Given the description of an element on the screen output the (x, y) to click on. 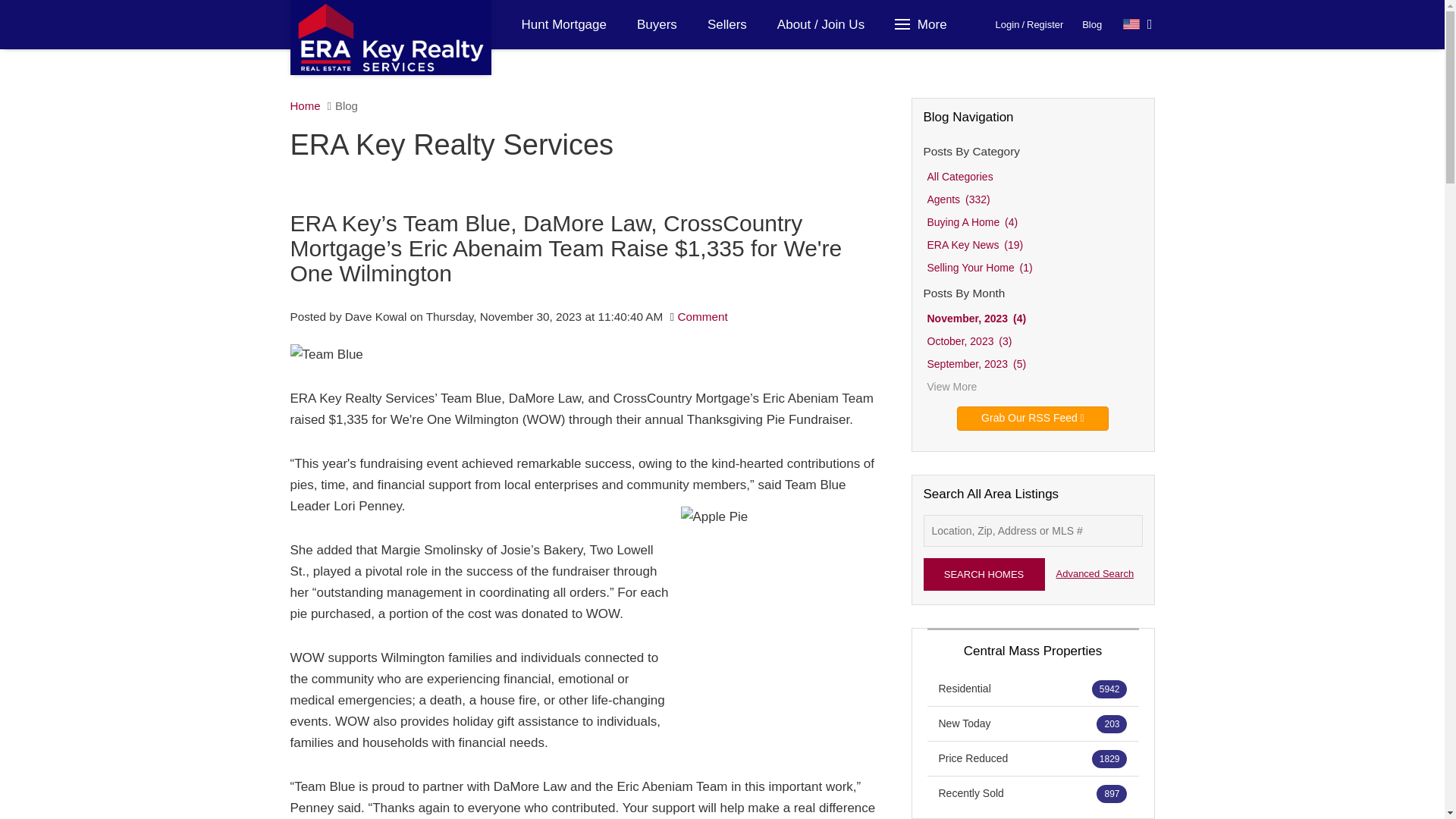
More (922, 24)
Register (1044, 24)
Hunt Mortgage (563, 24)
Sellers (727, 24)
Team Blue (325, 354)
Buyers (657, 24)
Select Language (1137, 24)
Apple Pie (775, 608)
